Given the description of an element on the screen output the (x, y) to click on. 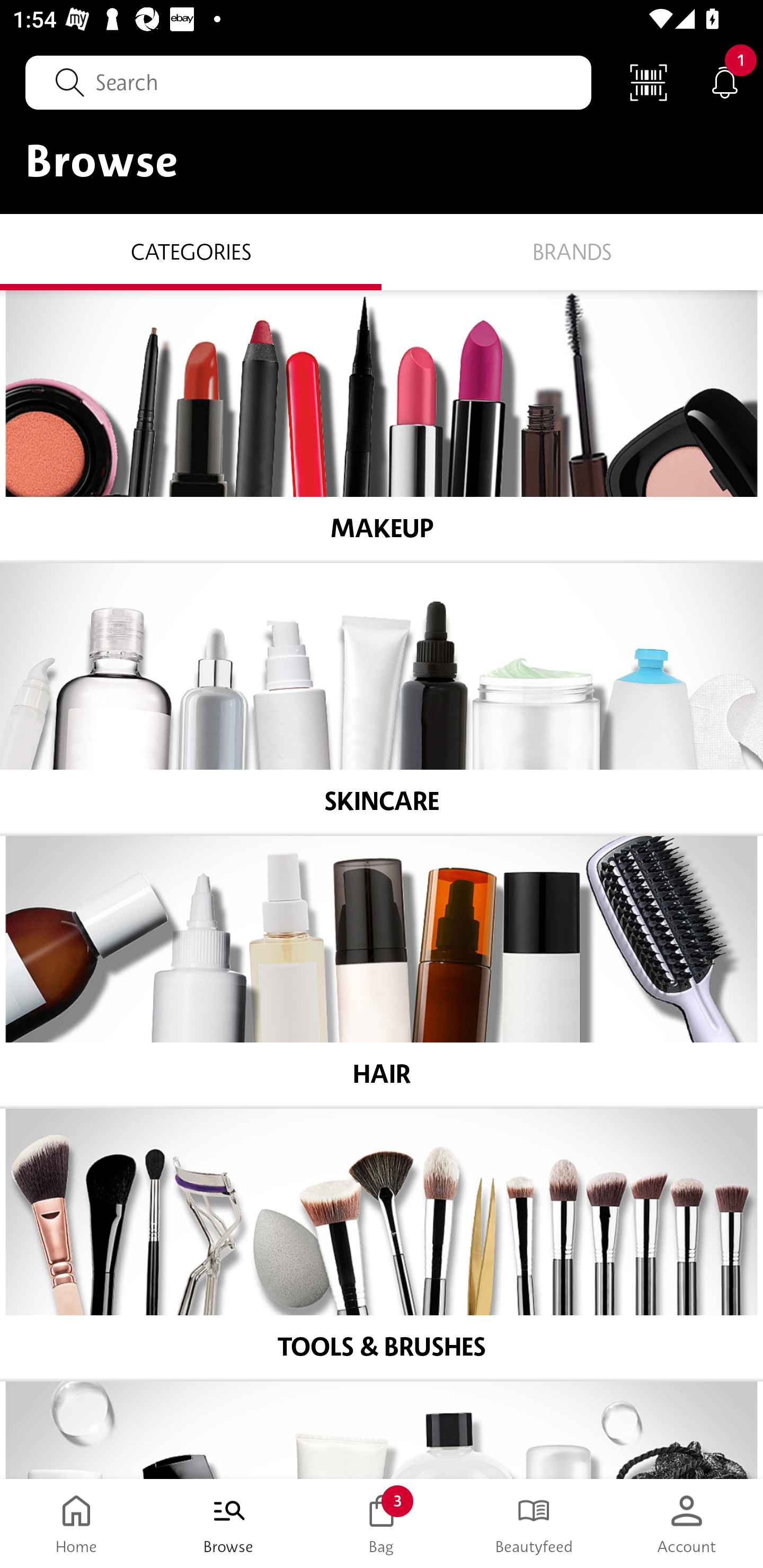
Scan Code (648, 81)
Notifications (724, 81)
Search (308, 81)
Brands BRANDS (572, 251)
MAKEUP (381, 425)
SKINCARE (381, 698)
HAIR (381, 971)
TOOLS & BRUSHES (381, 1243)
Home (76, 1523)
Bag 3 Bag (381, 1523)
Beautyfeed (533, 1523)
Account (686, 1523)
